Given the description of an element on the screen output the (x, y) to click on. 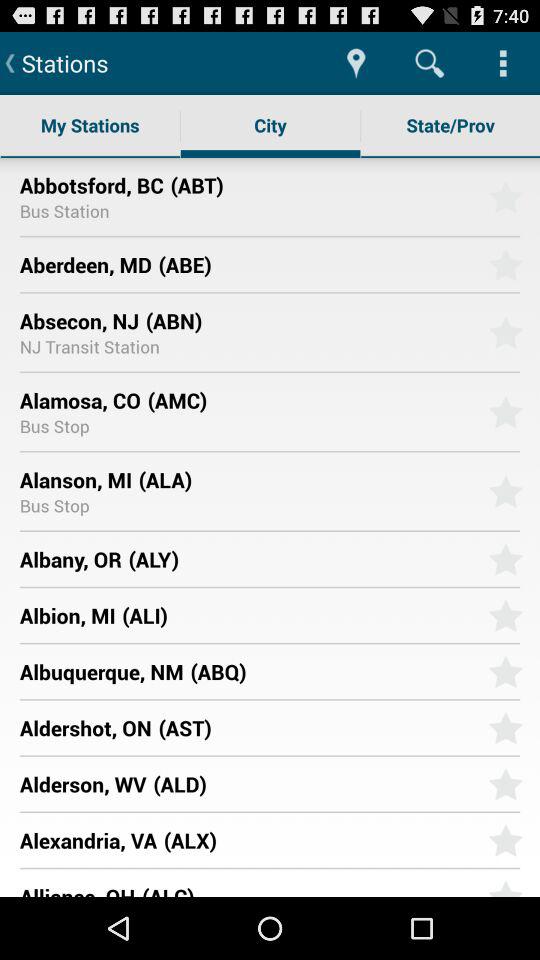
tap item above nj transit station (79, 320)
